Given the description of an element on the screen output the (x, y) to click on. 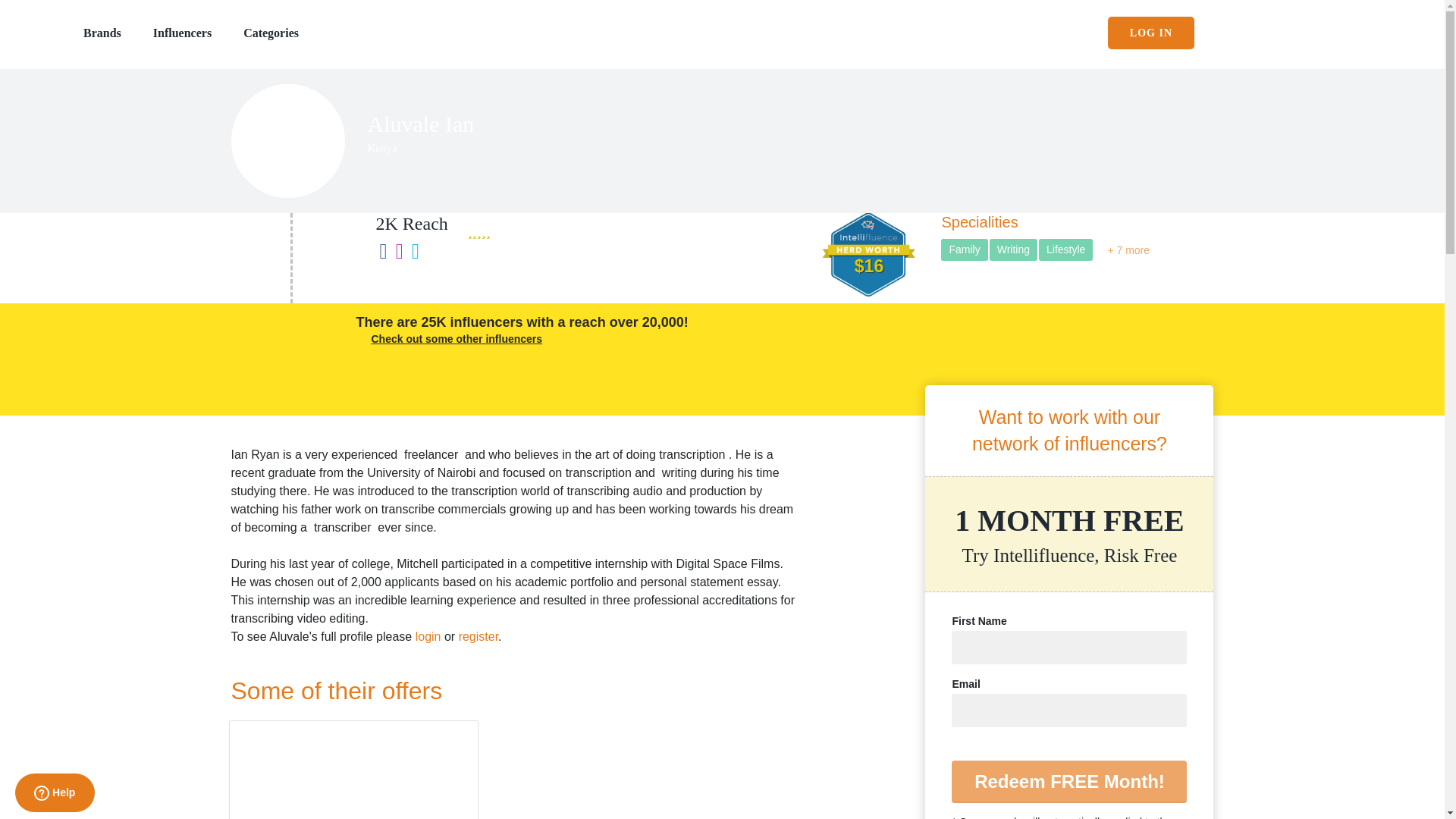
Family (963, 250)
Redeem FREE Month! (1069, 781)
Influencers (181, 31)
register (477, 635)
Writing (1013, 250)
Lifestyle (1066, 250)
login (427, 635)
Check out some other influencers (457, 338)
LOG IN (1150, 31)
